Given the description of an element on the screen output the (x, y) to click on. 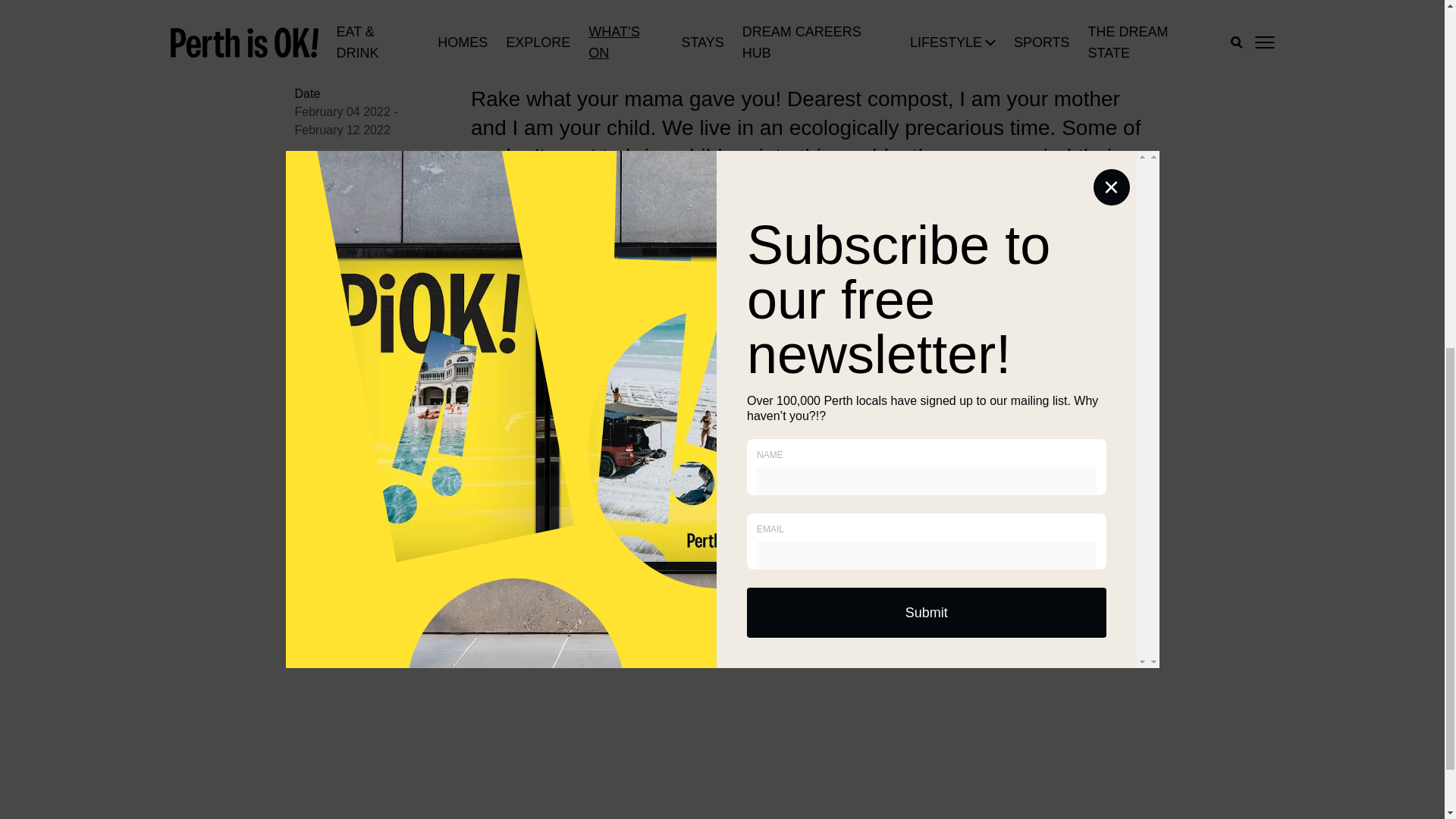
BUY TICKETS (366, 317)
Copy URL (423, 264)
Subscribe now! (1082, 469)
